Given the description of an element on the screen output the (x, y) to click on. 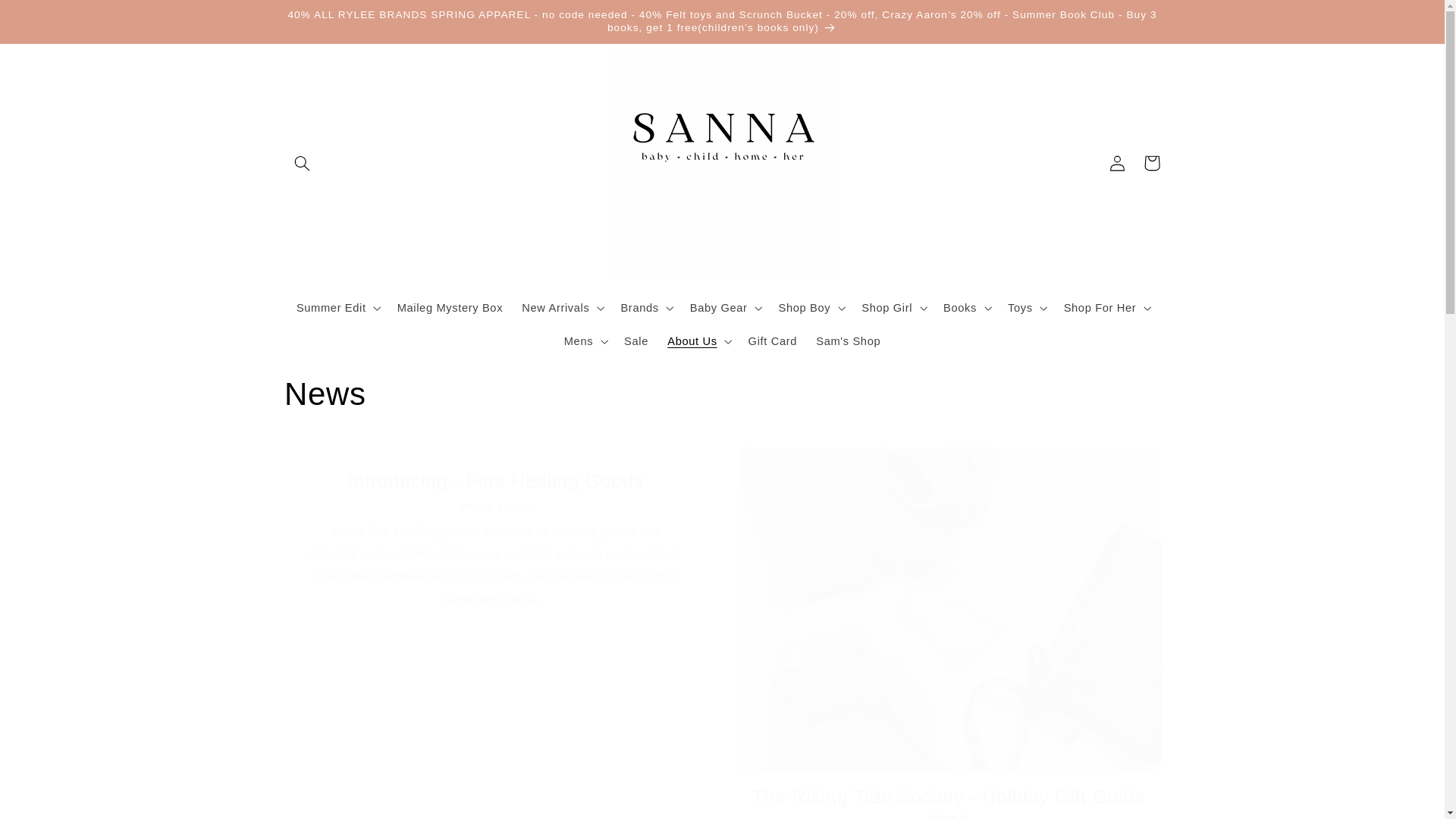
News (721, 394)
Skip to content (48, 18)
